Given the description of an element on the screen output the (x, y) to click on. 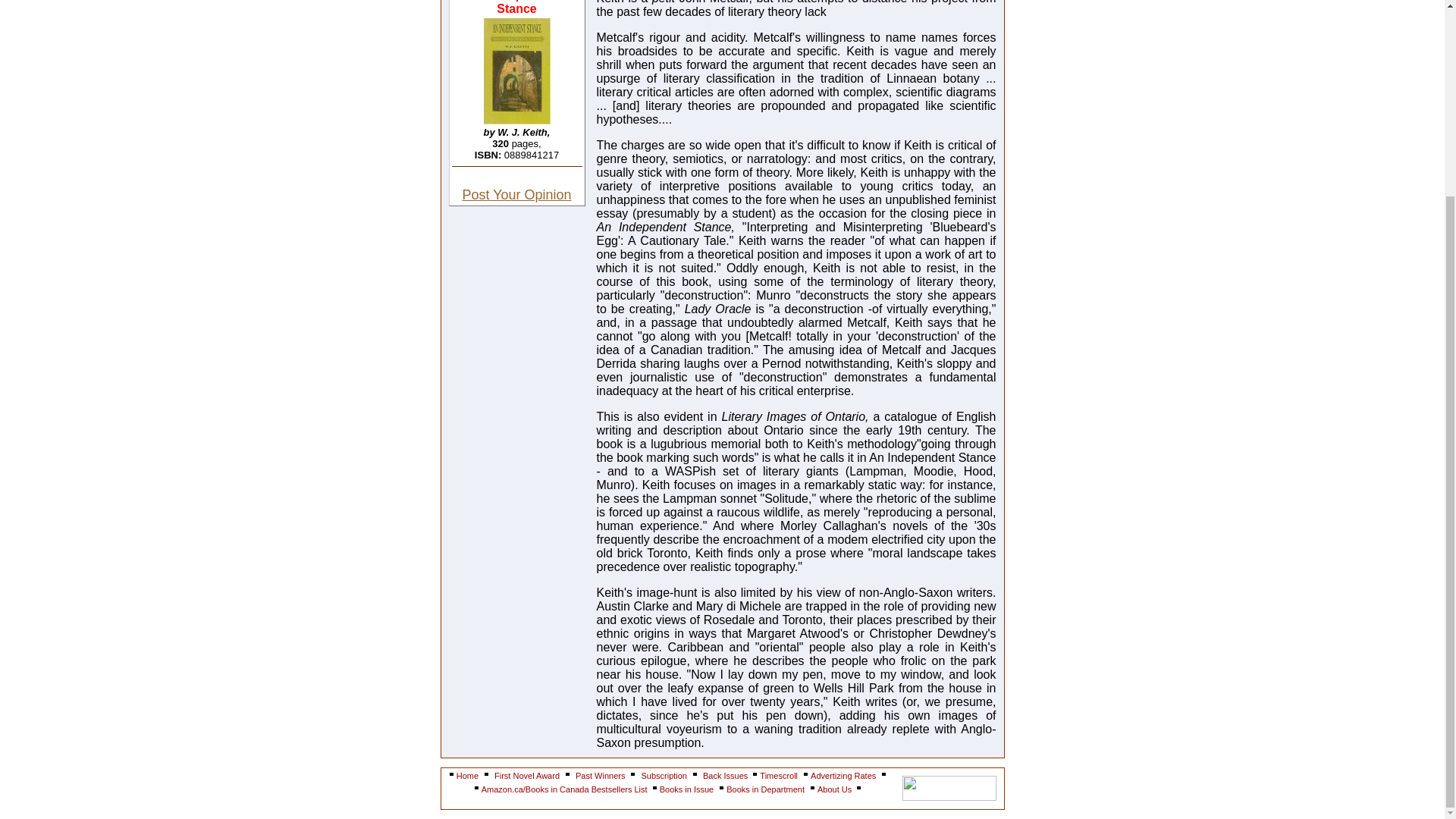
Past Winners (599, 775)
Advertizing Rates (843, 775)
Back Issues (726, 775)
Back Issues (726, 775)
Home (468, 775)
Subscription (663, 775)
Timescroll (778, 775)
Books in Issue (686, 788)
First Novel Award (527, 775)
Home (468, 775)
